Given the description of an element on the screen output the (x, y) to click on. 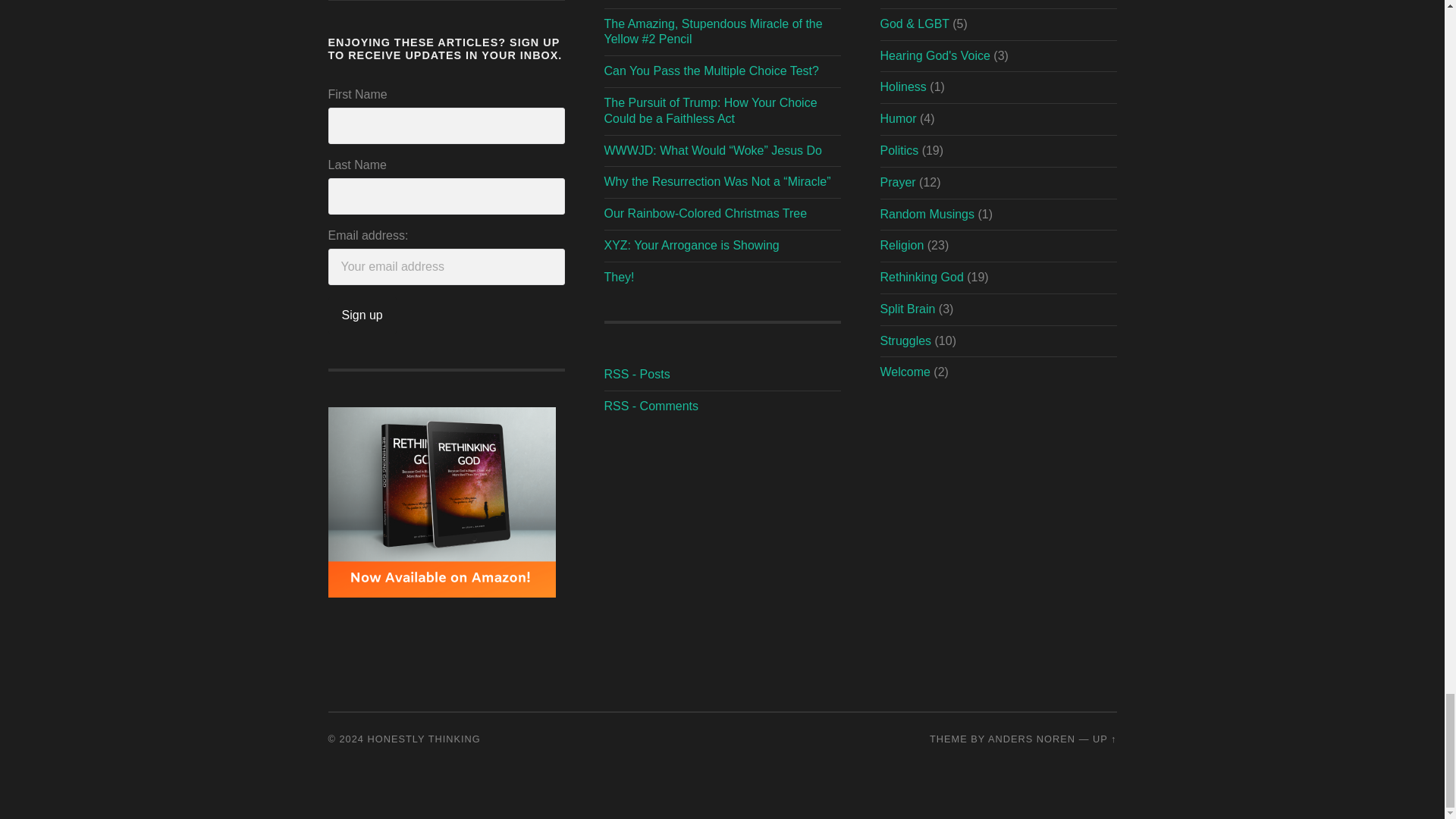
Sign up (361, 315)
